Given the description of an element on the screen output the (x, y) to click on. 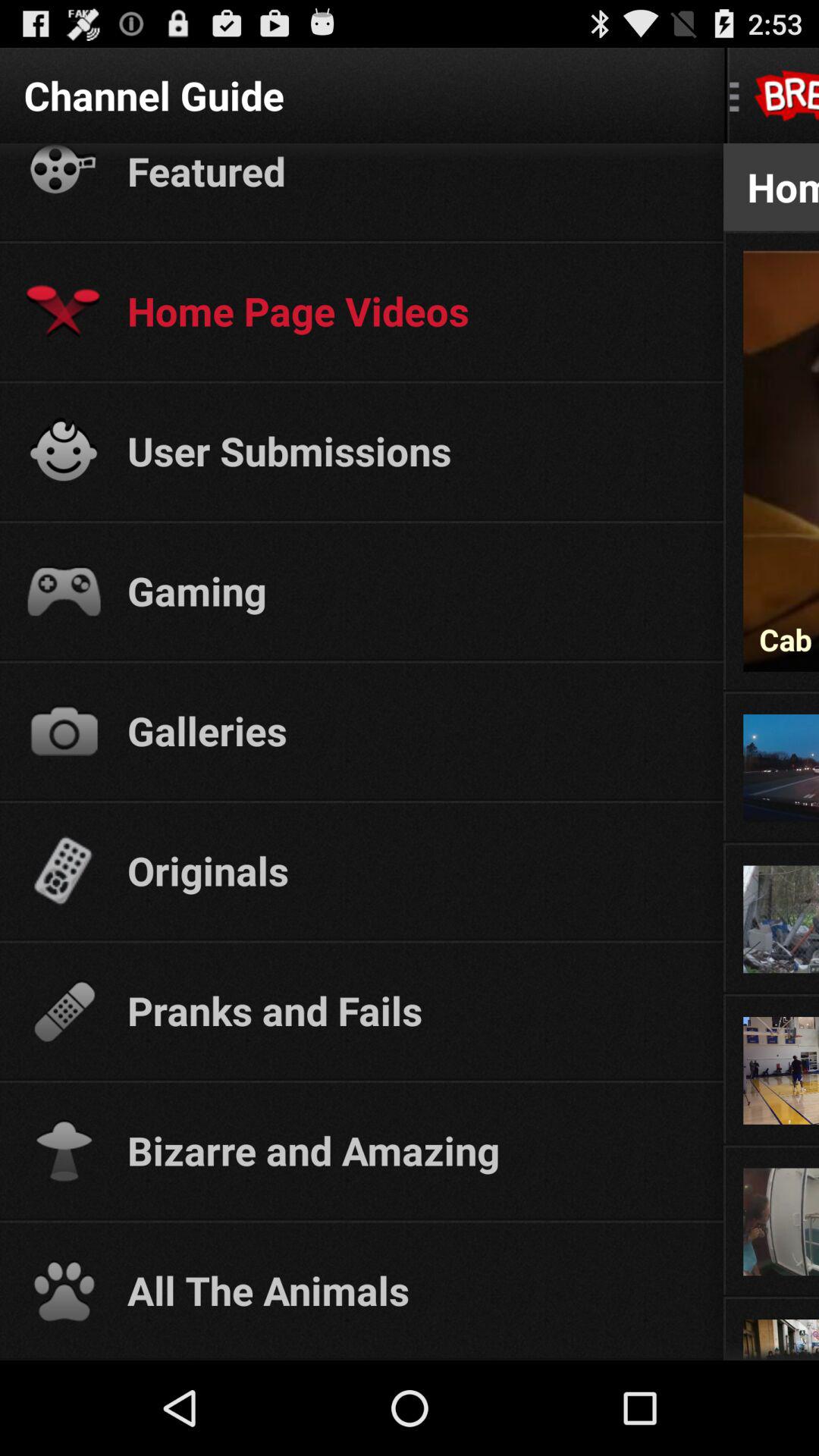
choose icon below the channel guide app (411, 170)
